Given the description of an element on the screen output the (x, y) to click on. 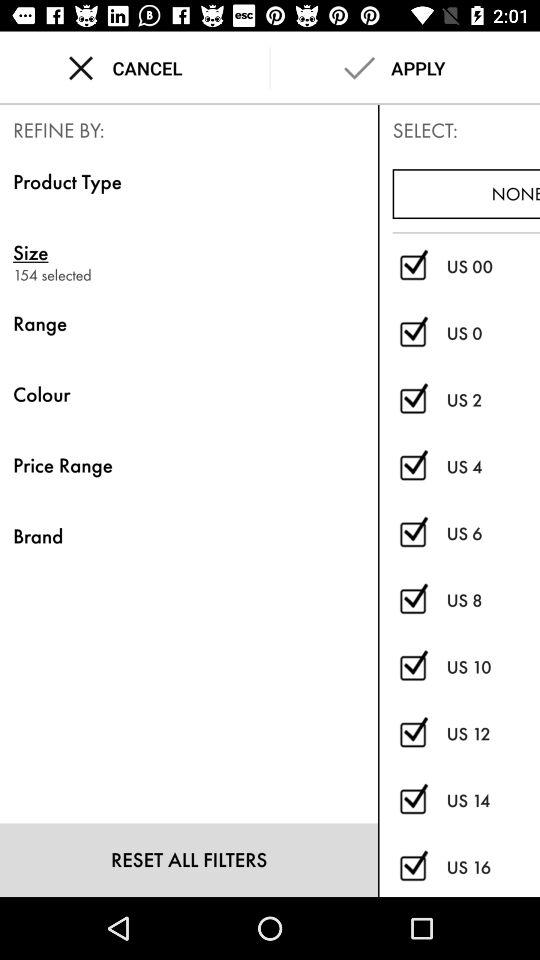
scroll until us 12 (493, 734)
